Given the description of an element on the screen output the (x, y) to click on. 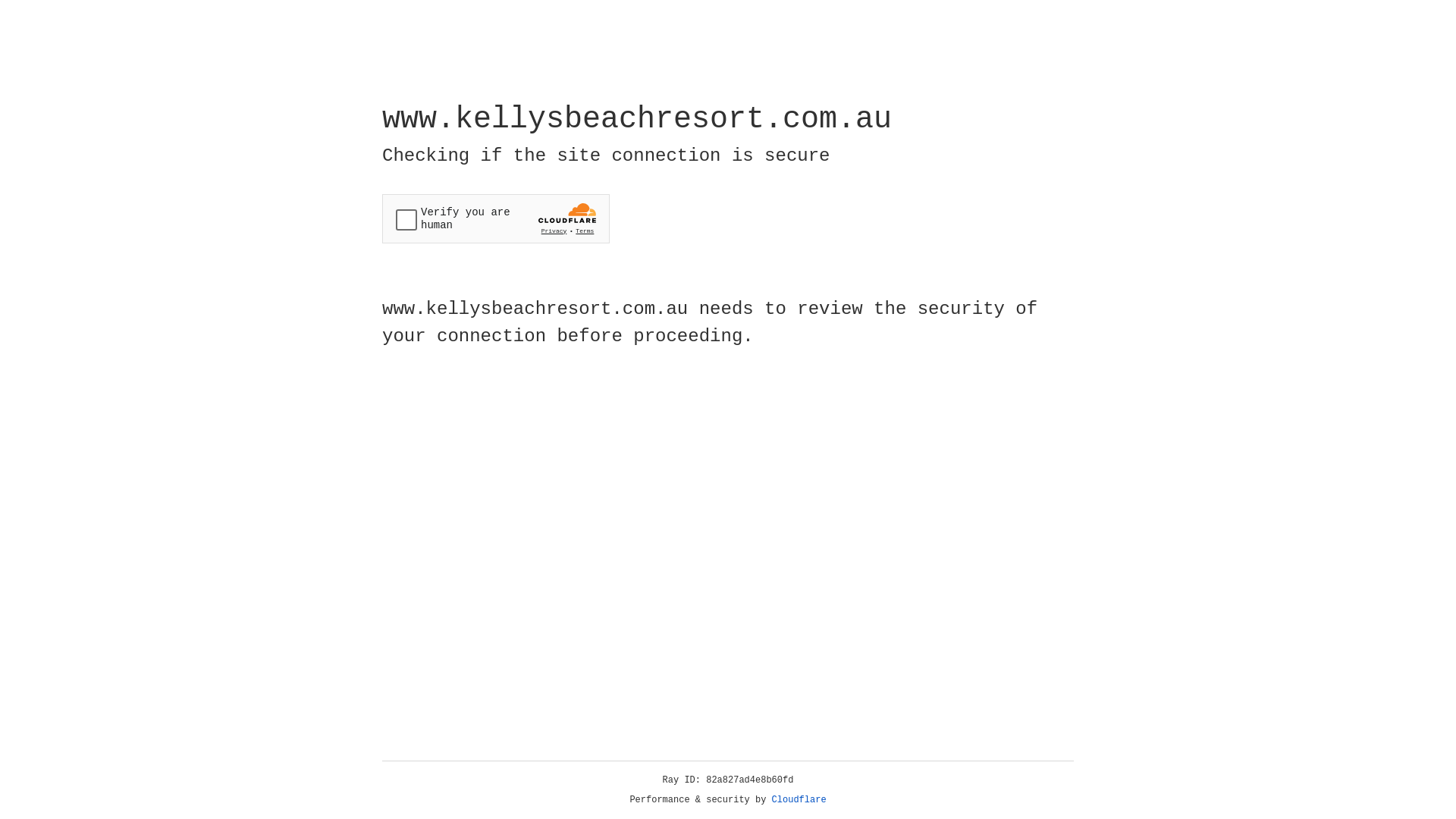
Widget containing a Cloudflare security challenge Element type: hover (495, 218)
Cloudflare Element type: text (798, 799)
